Given the description of an element on the screen output the (x, y) to click on. 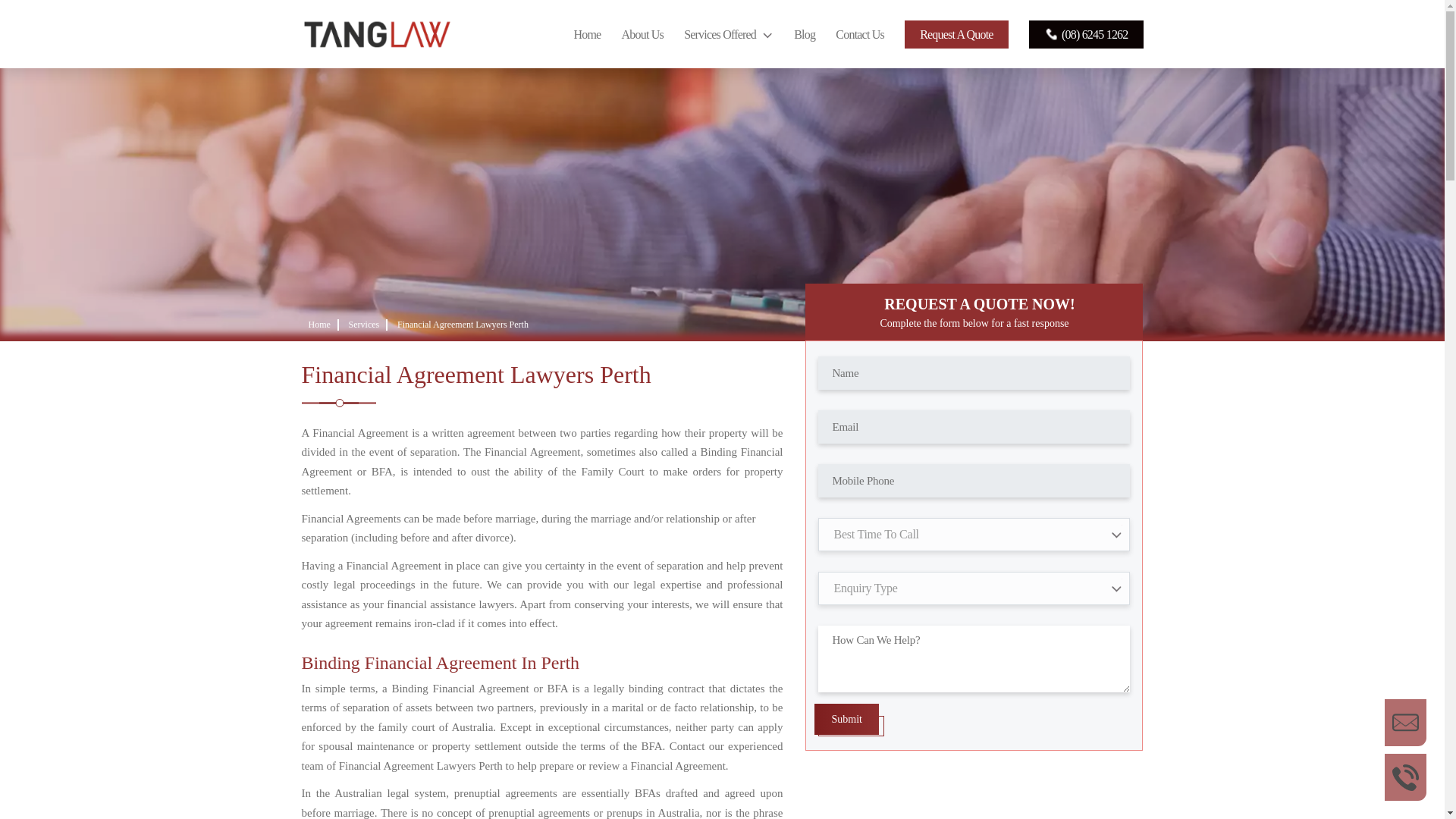
Services (364, 324)
Request A Quote (955, 34)
Contact Us (859, 33)
Home (586, 33)
Financial Agreement Lawyers Perth (462, 324)
Submit (845, 718)
Home (318, 324)
About Us (642, 33)
Blog (804, 33)
Services Offered (728, 33)
